Given the description of an element on the screen output the (x, y) to click on. 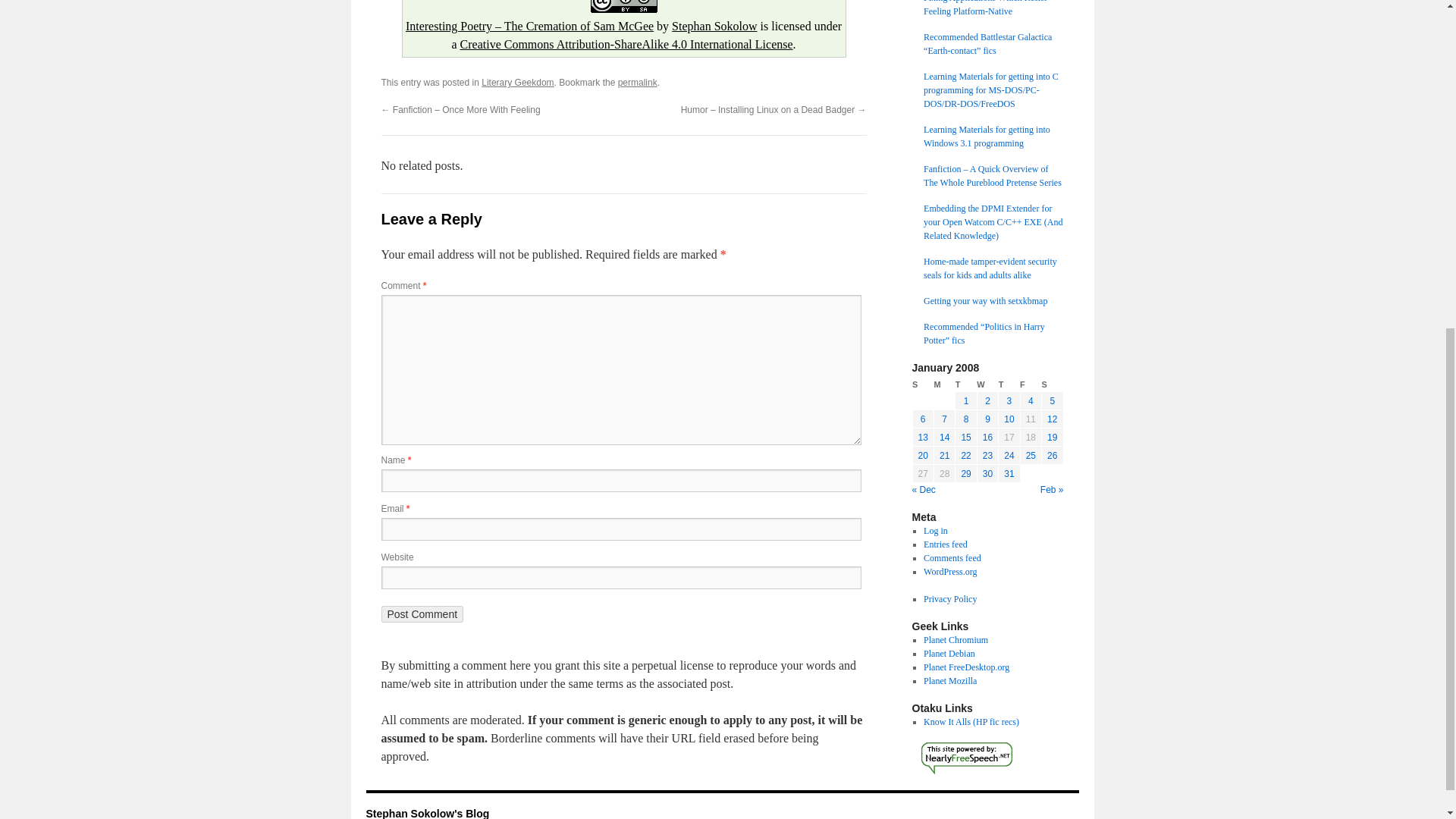
Thursday (1009, 383)
Post Comment (421, 614)
Friday (1030, 383)
Saturday (1052, 383)
Tuesday (965, 383)
Monday (944, 383)
Wednesday (986, 383)
Literary Geekdom (517, 81)
Sunday (922, 383)
permalink (637, 81)
